Given the description of an element on the screen output the (x, y) to click on. 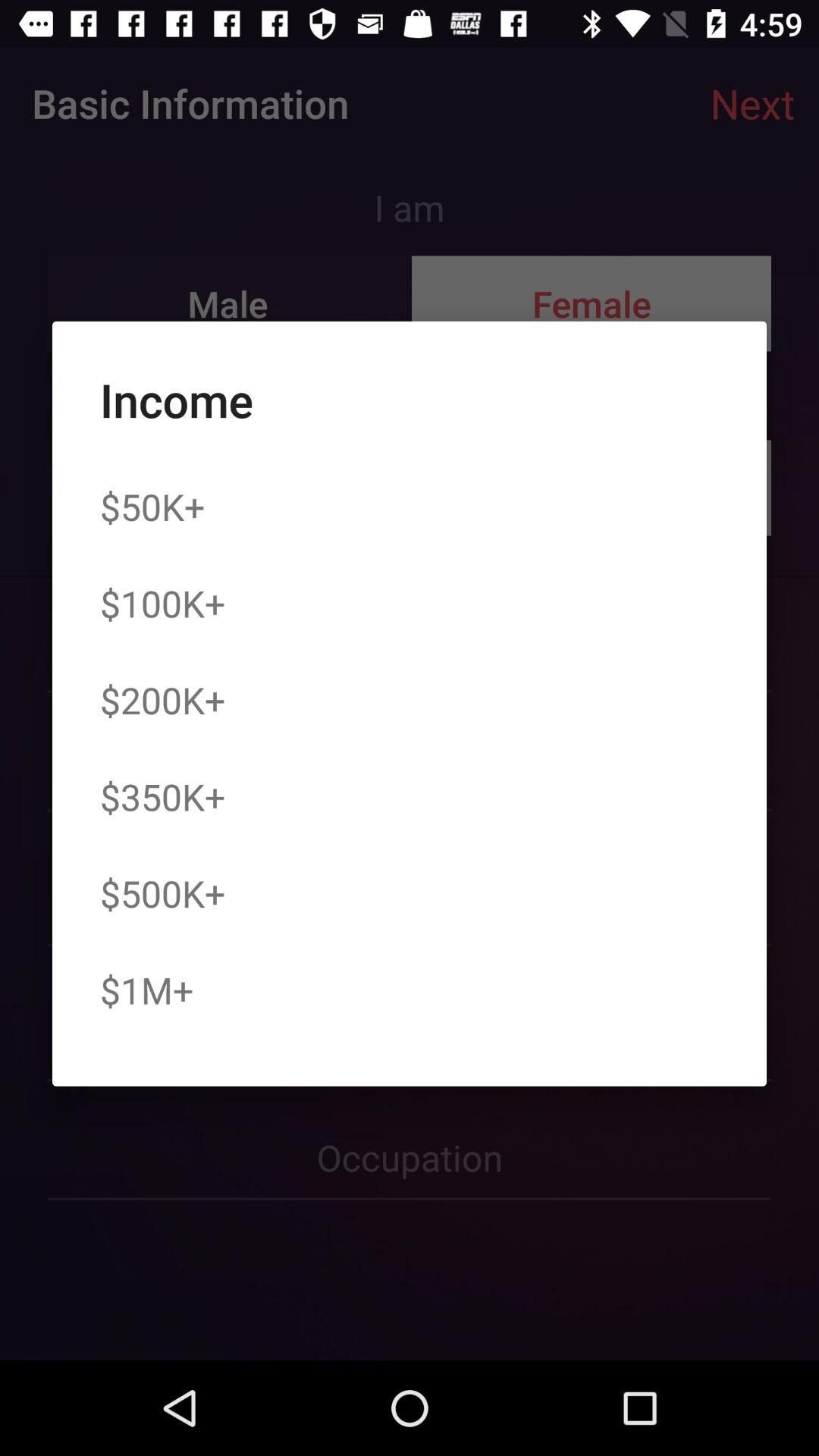
turn off the icon below $350k+ icon (162, 893)
